Given the description of an element on the screen output the (x, y) to click on. 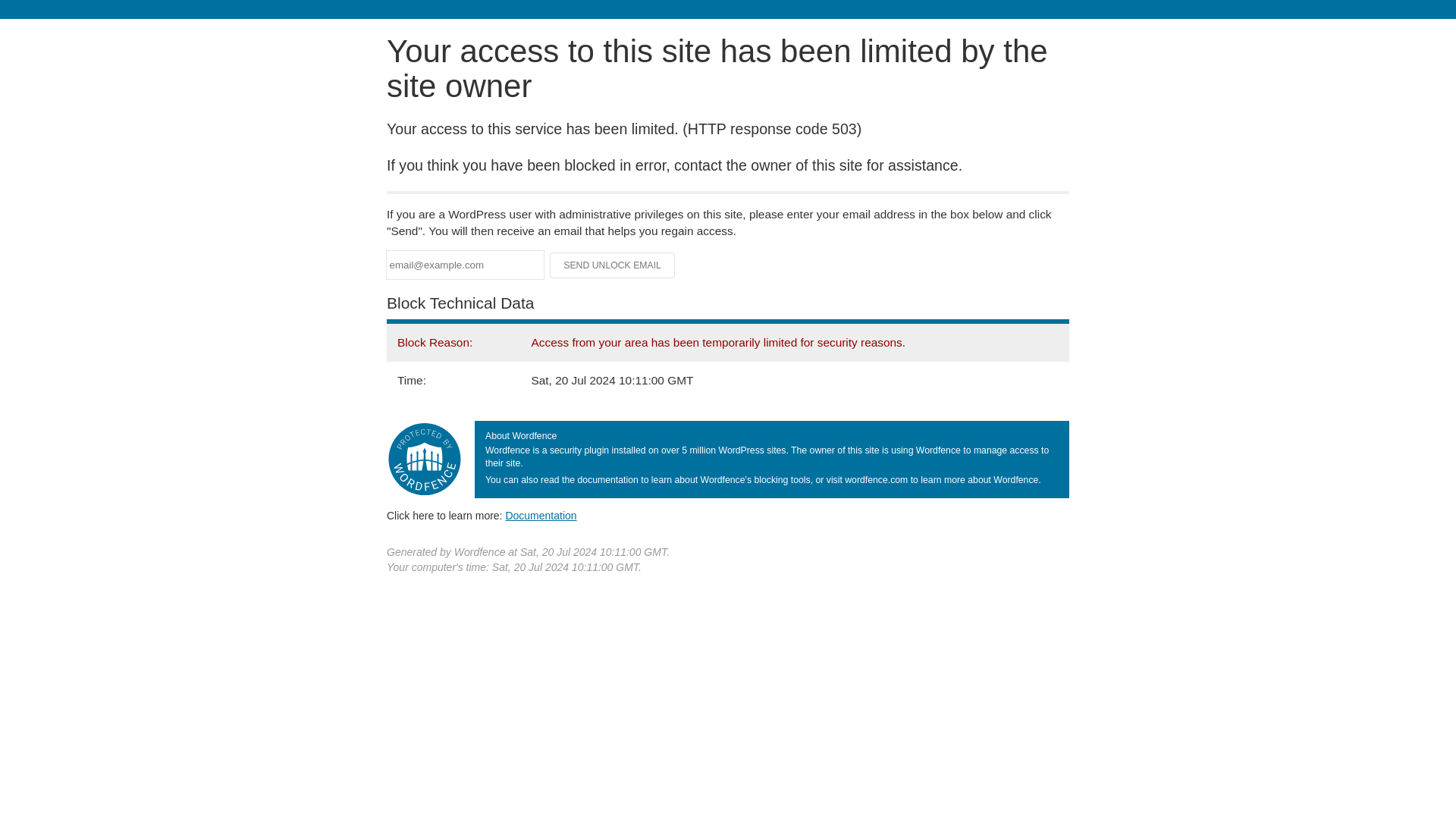
Send Unlock Email (612, 265)
Send Unlock Email (612, 265)
Documentation (540, 515)
